Given the description of an element on the screen output the (x, y) to click on. 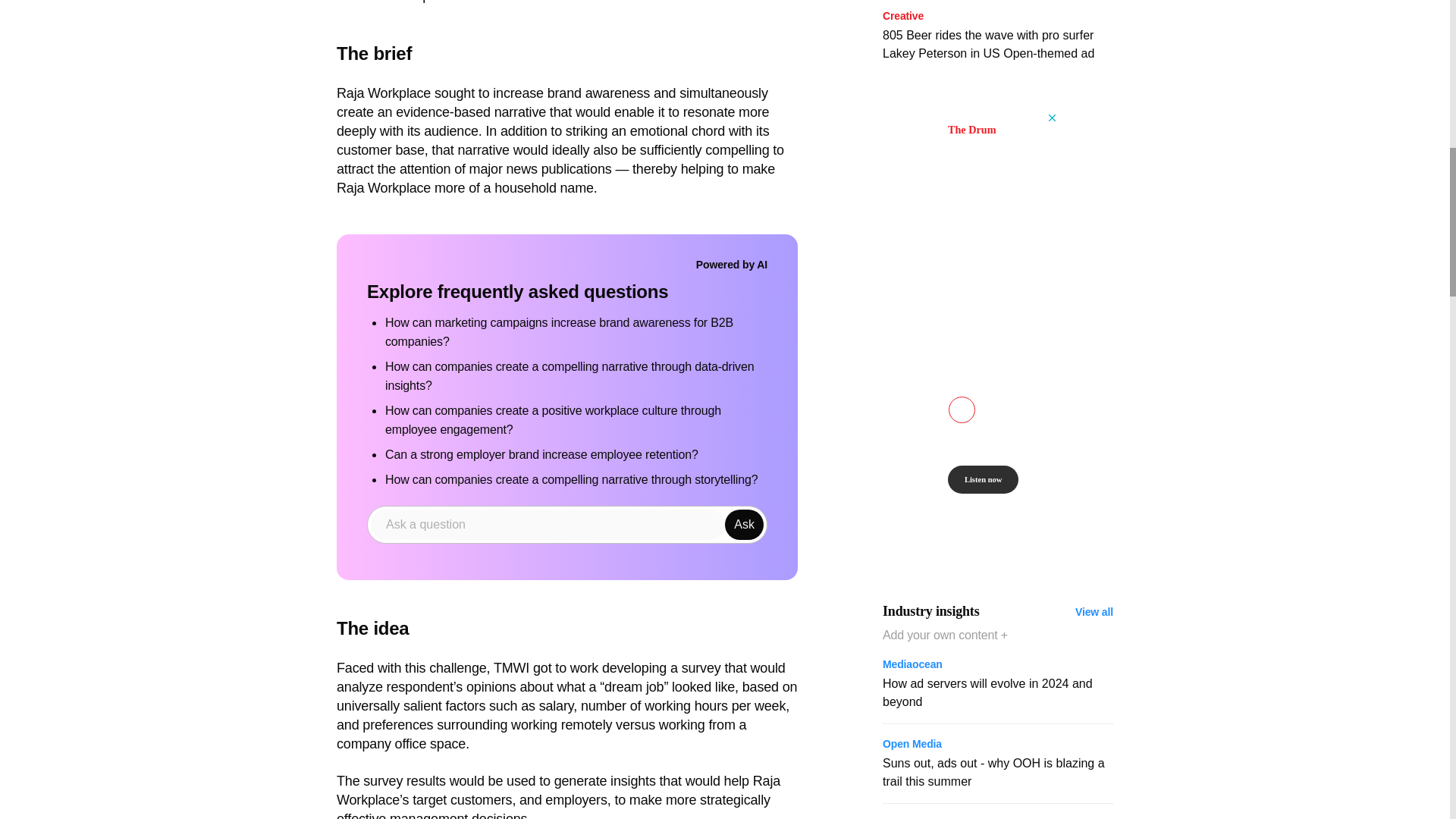
3rd party ad content (108, 25)
